Given the description of an element on the screen output the (x, y) to click on. 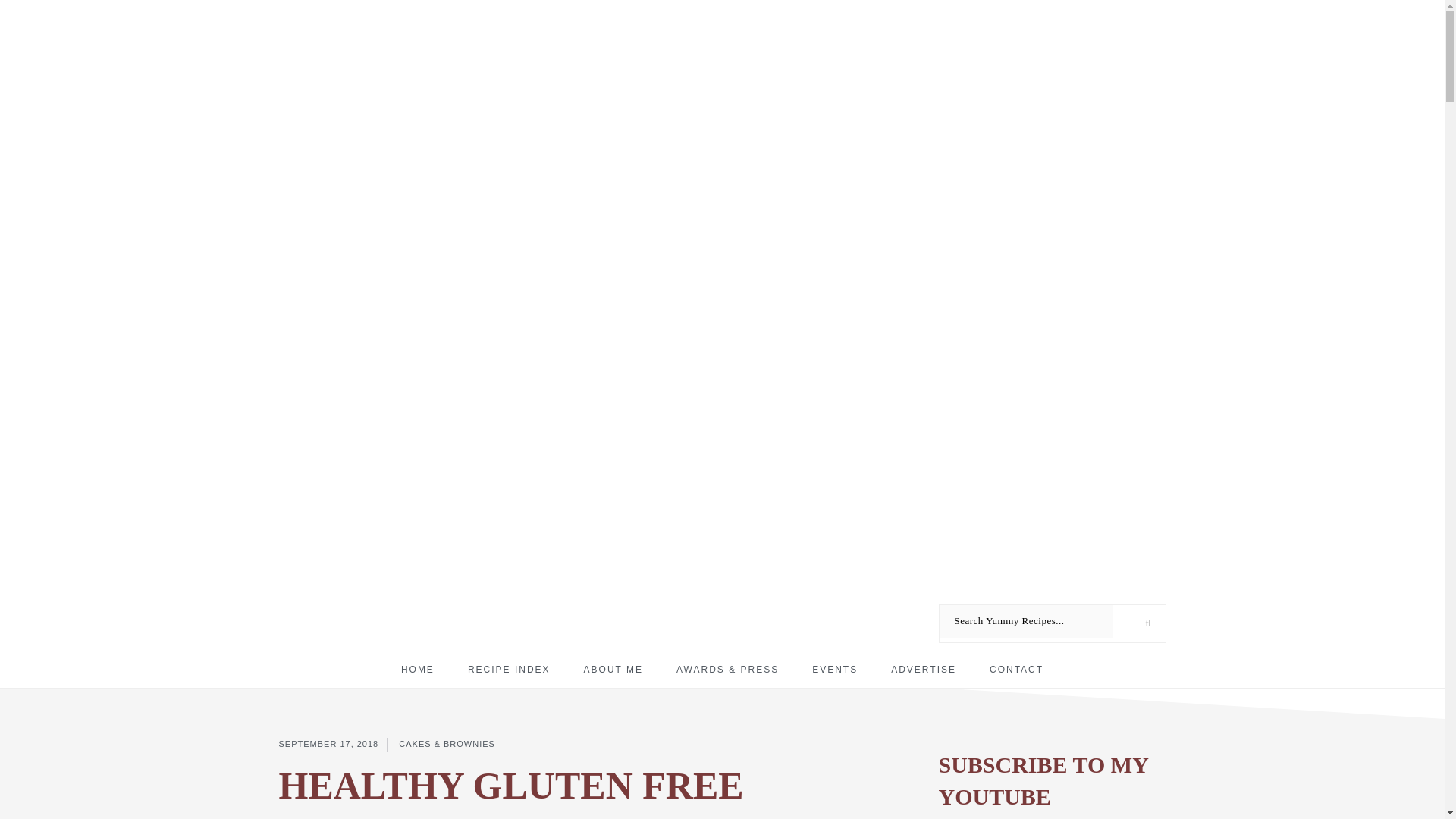
RECIPE INDEX (509, 669)
ABOUT ME (612, 669)
CONTACT (1016, 669)
HOME (417, 669)
ADVERTISE (922, 669)
EVENTS (834, 669)
